Given the description of an element on the screen output the (x, y) to click on. 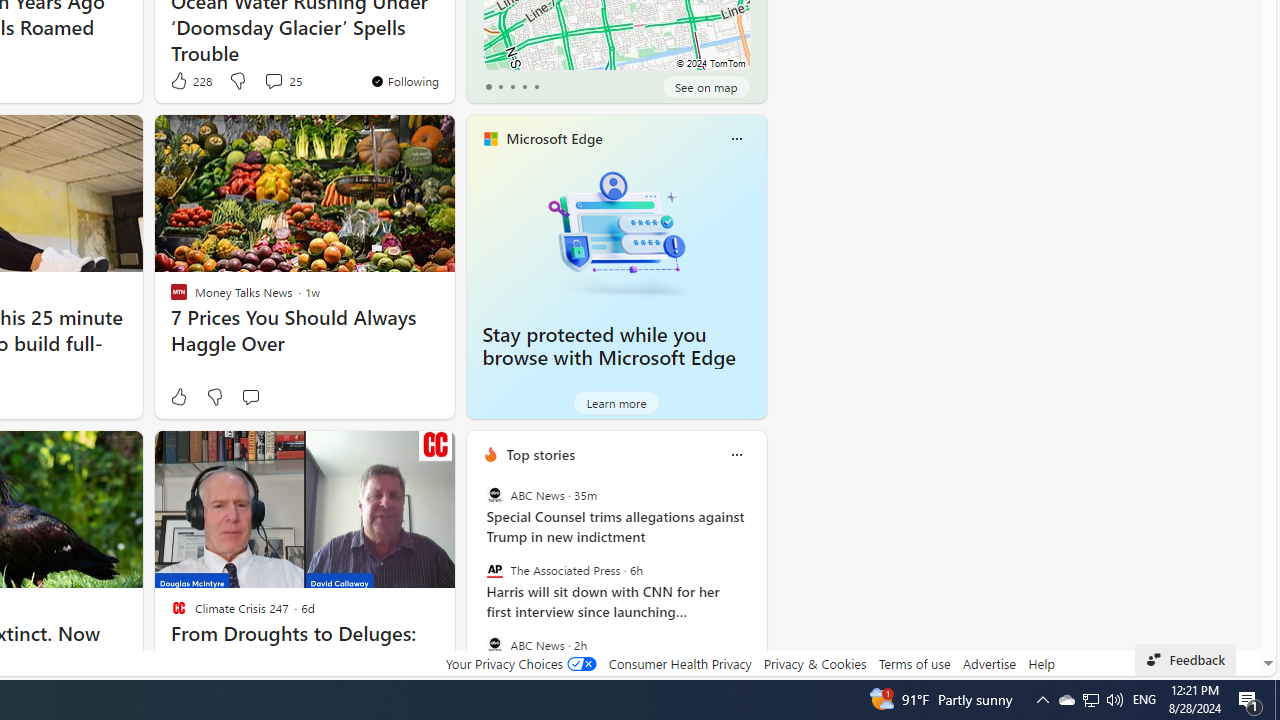
tab-2 (511, 86)
Privacy & Cookies (814, 663)
Consumer Health Privacy (680, 663)
Stay protected while you browse with Microsoft Edge (616, 232)
Microsoft Edge (553, 139)
See on map (705, 86)
Top stories (540, 454)
tab-3 (524, 86)
The Associated Press (494, 570)
Stay protected while you browse with Microsoft Edge (609, 346)
